Given the description of an element on the screen output the (x, y) to click on. 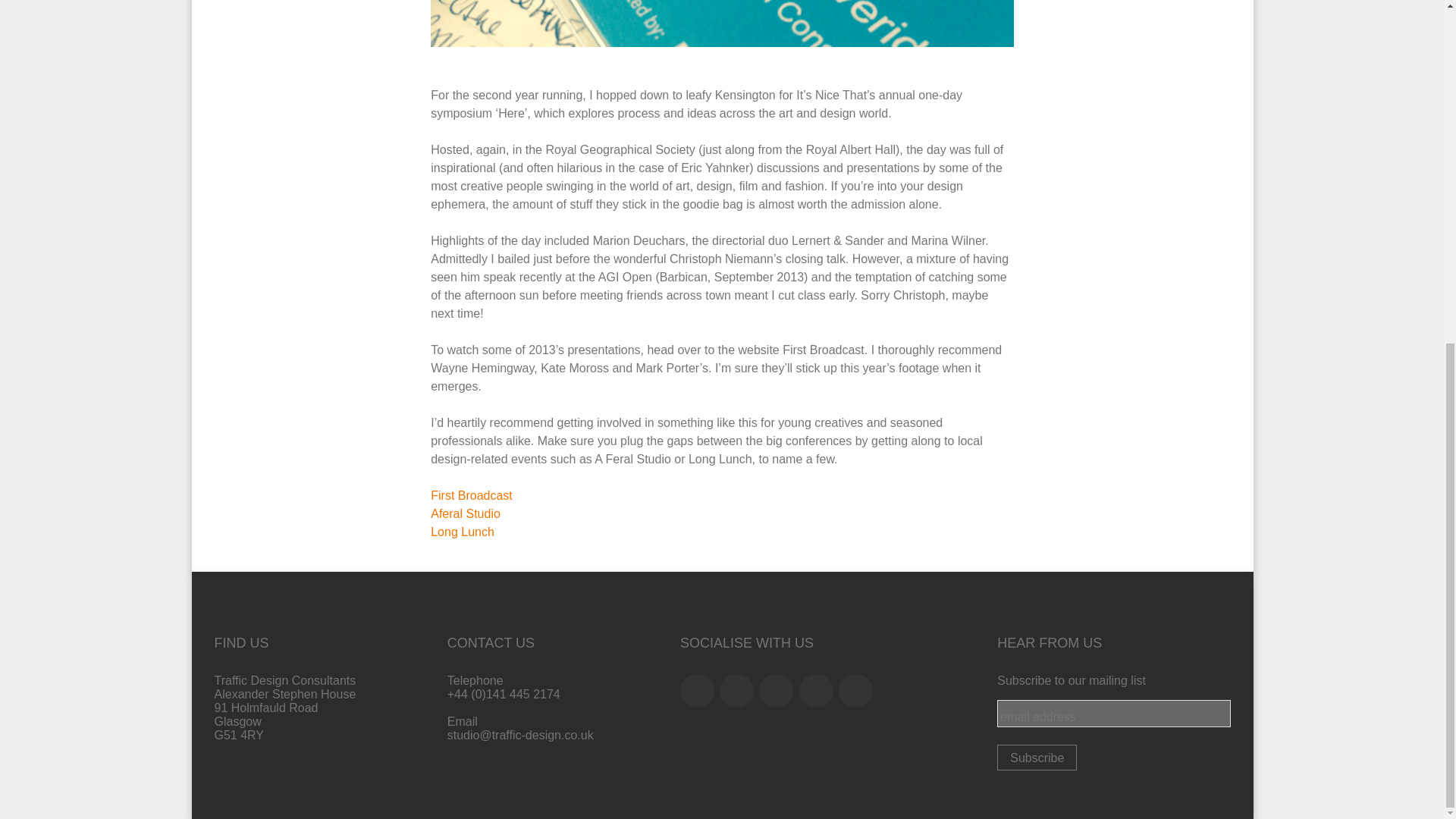
First Broadcast (471, 495)
Aferal Studio (465, 513)
Long Lunch (462, 531)
Subscribe (1037, 757)
Subscribe (1037, 757)
